Given the description of an element on the screen output the (x, y) to click on. 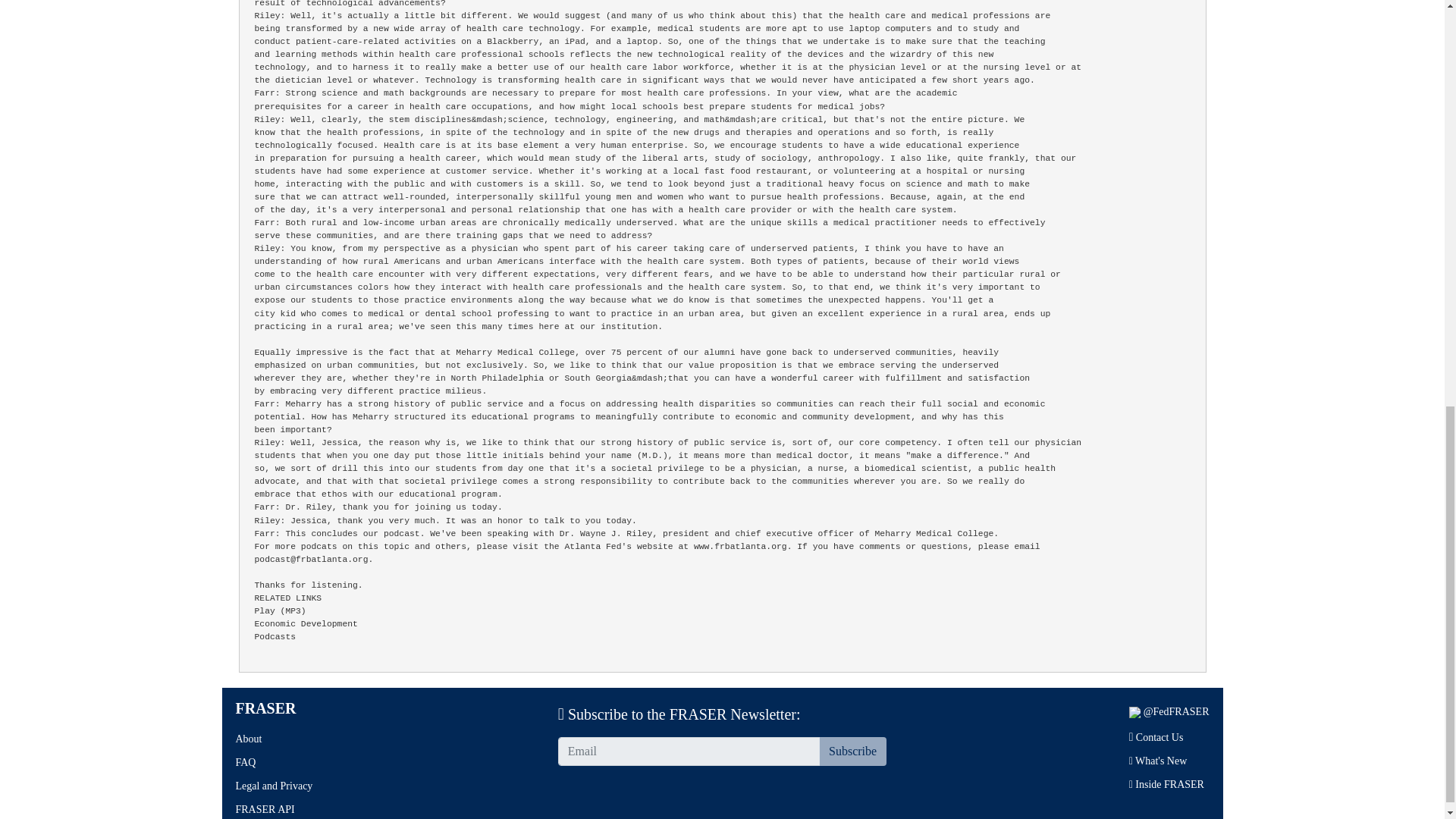
About (248, 738)
FAQ (245, 762)
FRASER API (264, 808)
Subscribe (852, 751)
Legal and Privacy (273, 785)
